Given the description of an element on the screen output the (x, y) to click on. 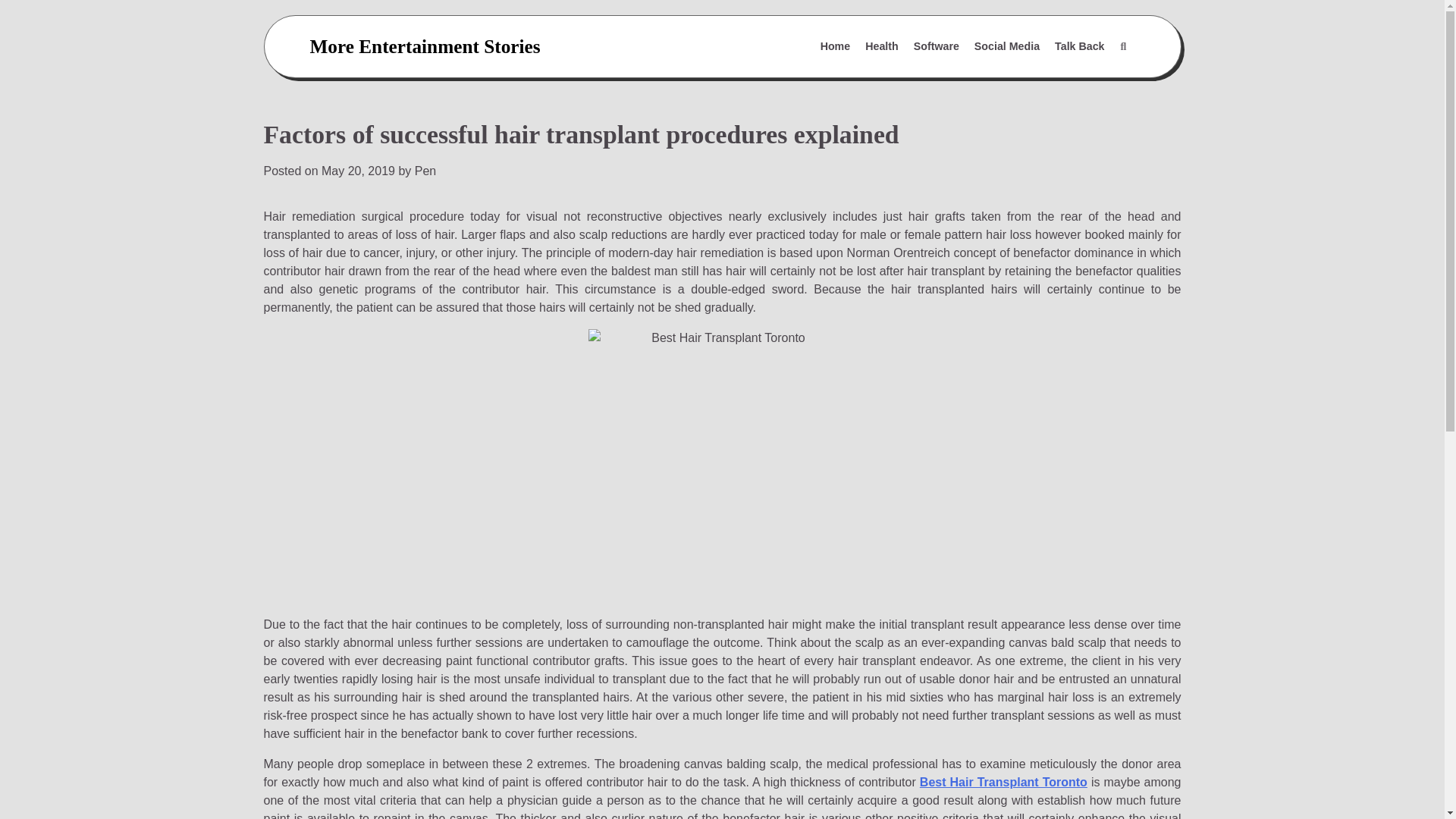
Social Media (1006, 46)
More Entertainment Stories (424, 46)
Software (935, 46)
Health (881, 46)
Search (1086, 83)
Home (835, 46)
Best Hair Transplant Toronto (1003, 781)
Search (1123, 47)
Talk Back (1079, 46)
Pen (424, 170)
May 20, 2019 (357, 170)
